Given the description of an element on the screen output the (x, y) to click on. 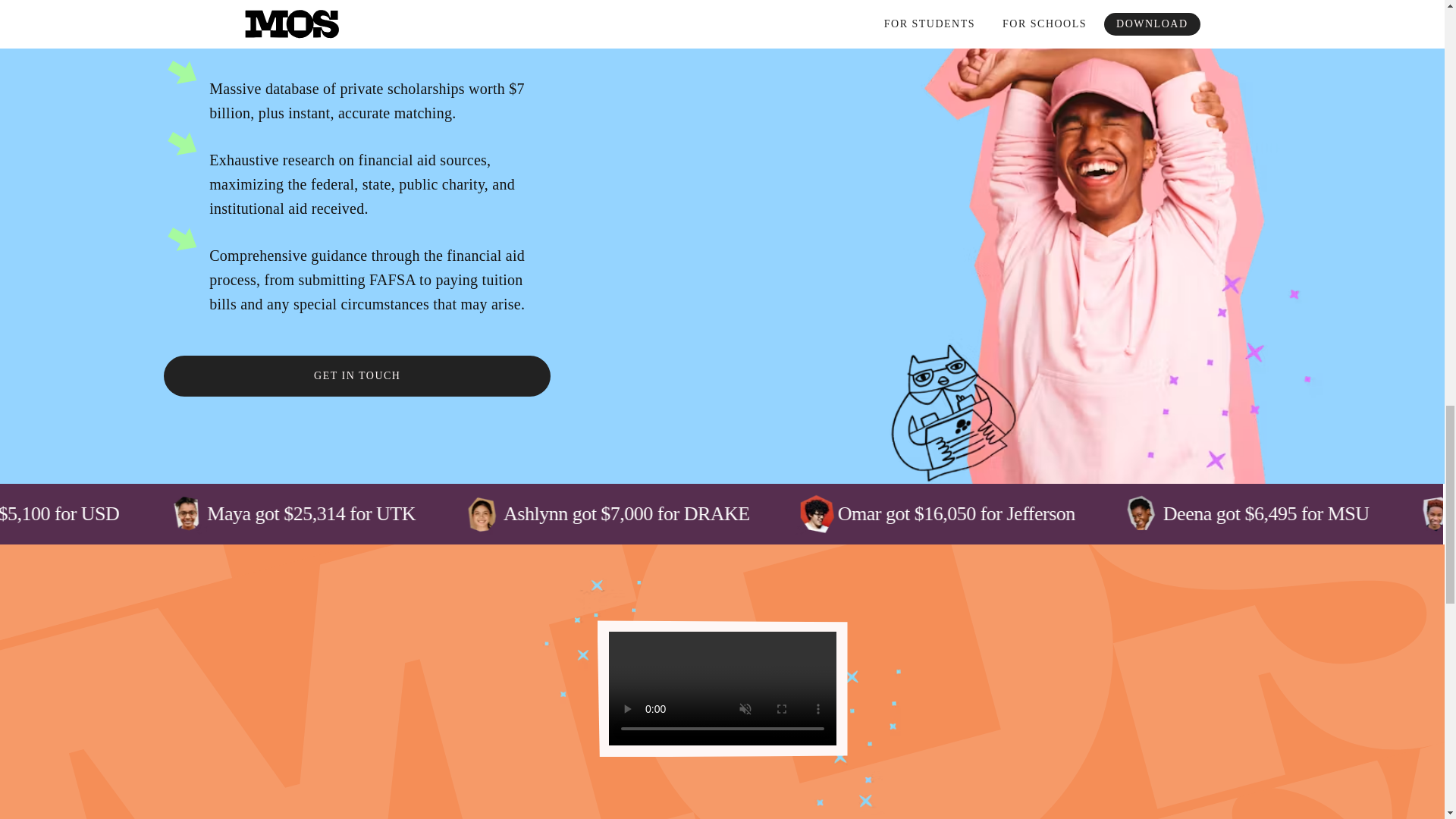
GET IN TOUCH (356, 375)
